Given the description of an element on the screen output the (x, y) to click on. 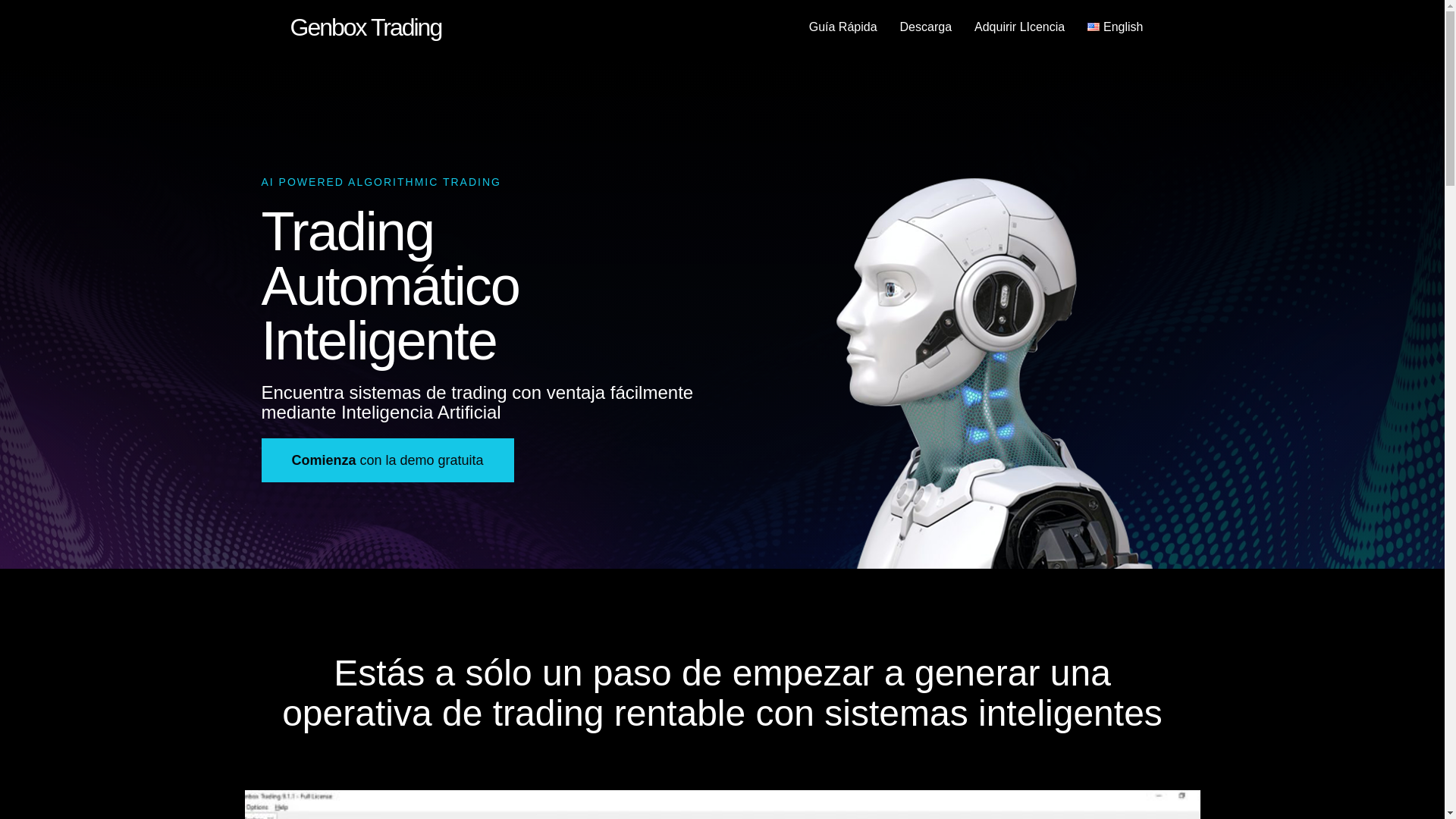
Descarga (925, 27)
Adquirir LIcencia (1018, 27)
English (1114, 27)
Comienza con la demo gratuita (100, 460)
Genbox Trading (365, 26)
Inicio (365, 26)
